Given the description of an element on the screen output the (x, y) to click on. 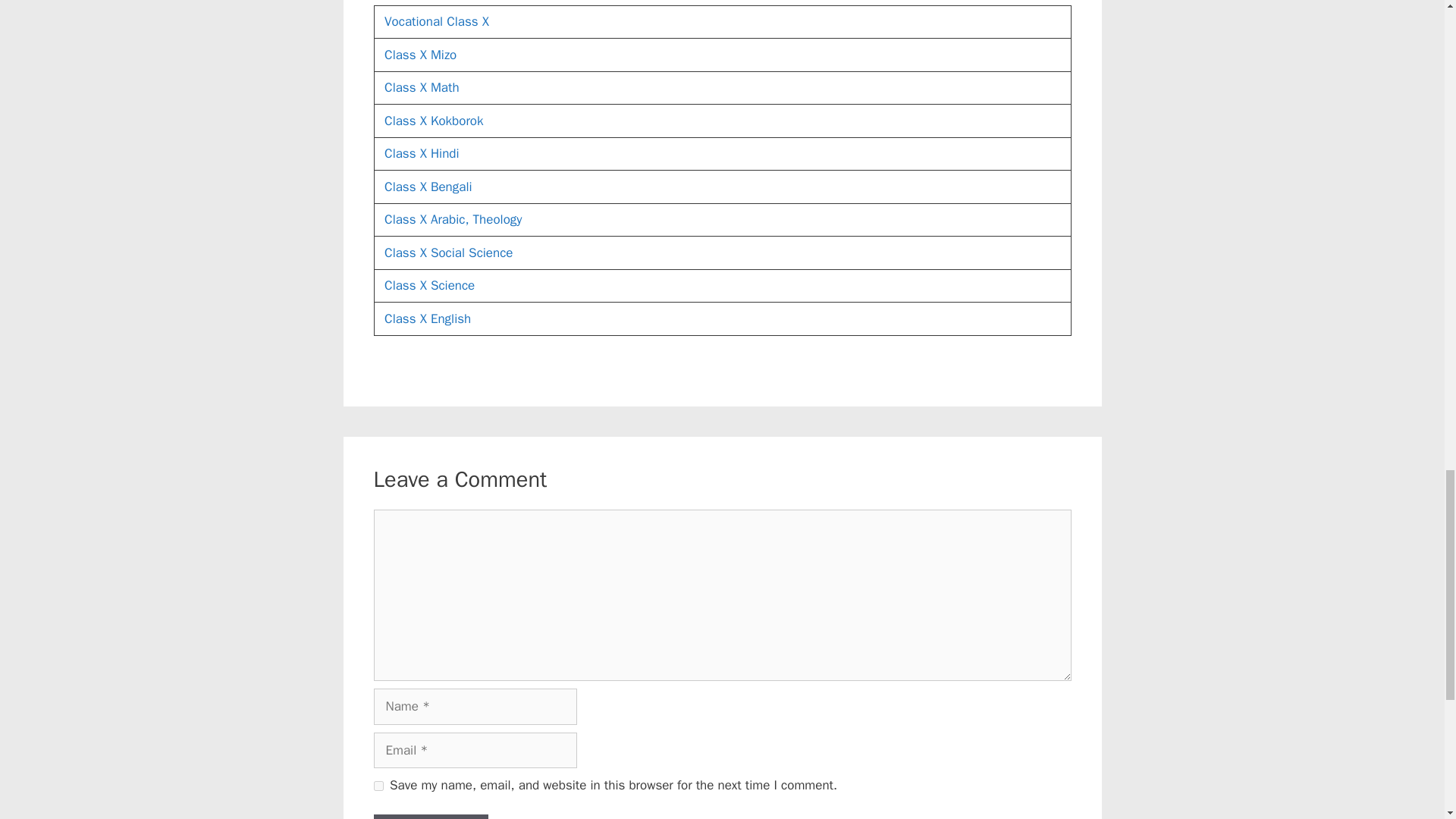
yes (377, 786)
Post Comment (429, 816)
Class X Bengali (427, 186)
Class X Kokborok (433, 120)
Class X Science (429, 285)
Class X Social Science (448, 252)
Class X English (427, 318)
Class X Hindi (421, 153)
Class X Mizo (420, 54)
Class X Arabic, Theology (452, 219)
